Given the description of an element on the screen output the (x, y) to click on. 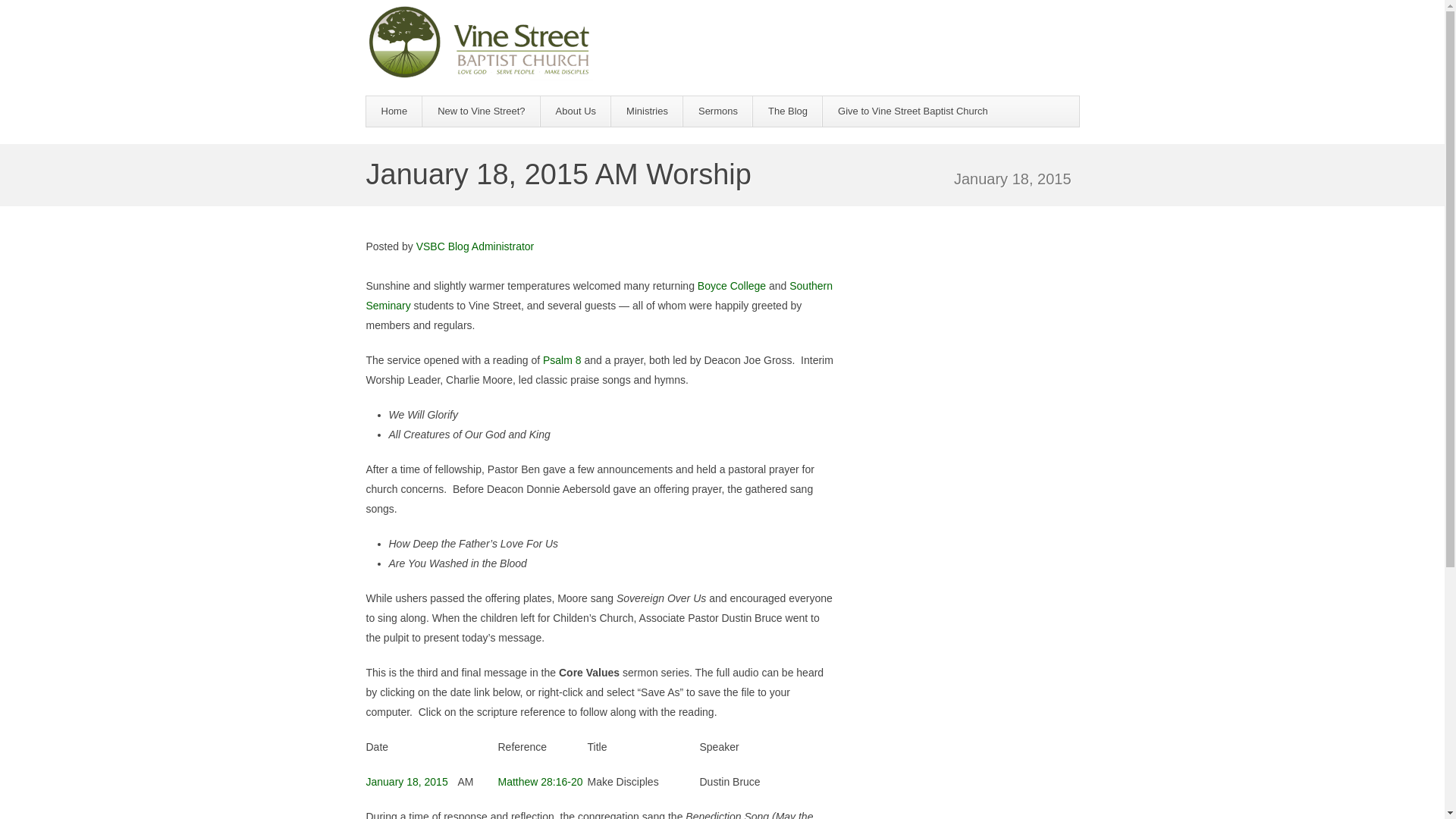
Psalm 8 (561, 359)
VSBC Blog Administrator (475, 246)
New to Vine Street? (481, 111)
Home (393, 111)
About Us (575, 111)
January 18, 2015 (405, 781)
View all posts by VSBC Blog Administrator (475, 246)
Ministries (646, 111)
Matthew 28:16-20 (539, 781)
Vine Street Baptist Church (478, 42)
Boyce College (731, 285)
Southern Seminary (598, 296)
Sermons (717, 111)
The Blog (787, 111)
Give to Vine Street Baptist Church (912, 111)
